Given the description of an element on the screen output the (x, y) to click on. 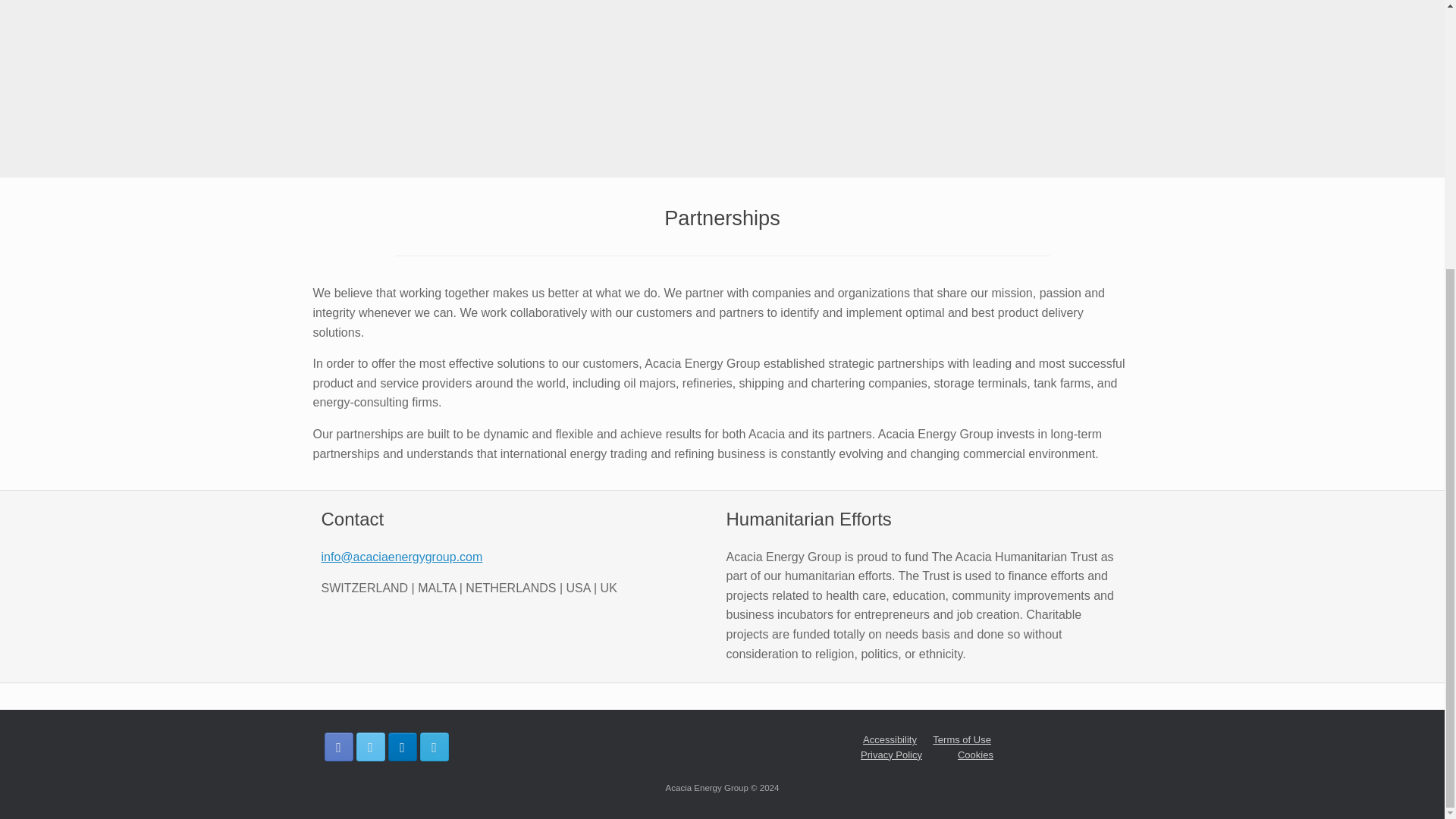
Acacia Energy Group Twitter (370, 746)
Acacia Energy Group LinkedIn (402, 746)
Accessibility (890, 739)
Terms of Use (962, 739)
Acacia Energy Group Facebook (338, 746)
Acacia Energy Group Email (434, 746)
Privacy Policy (890, 754)
